Given the description of an element on the screen output the (x, y) to click on. 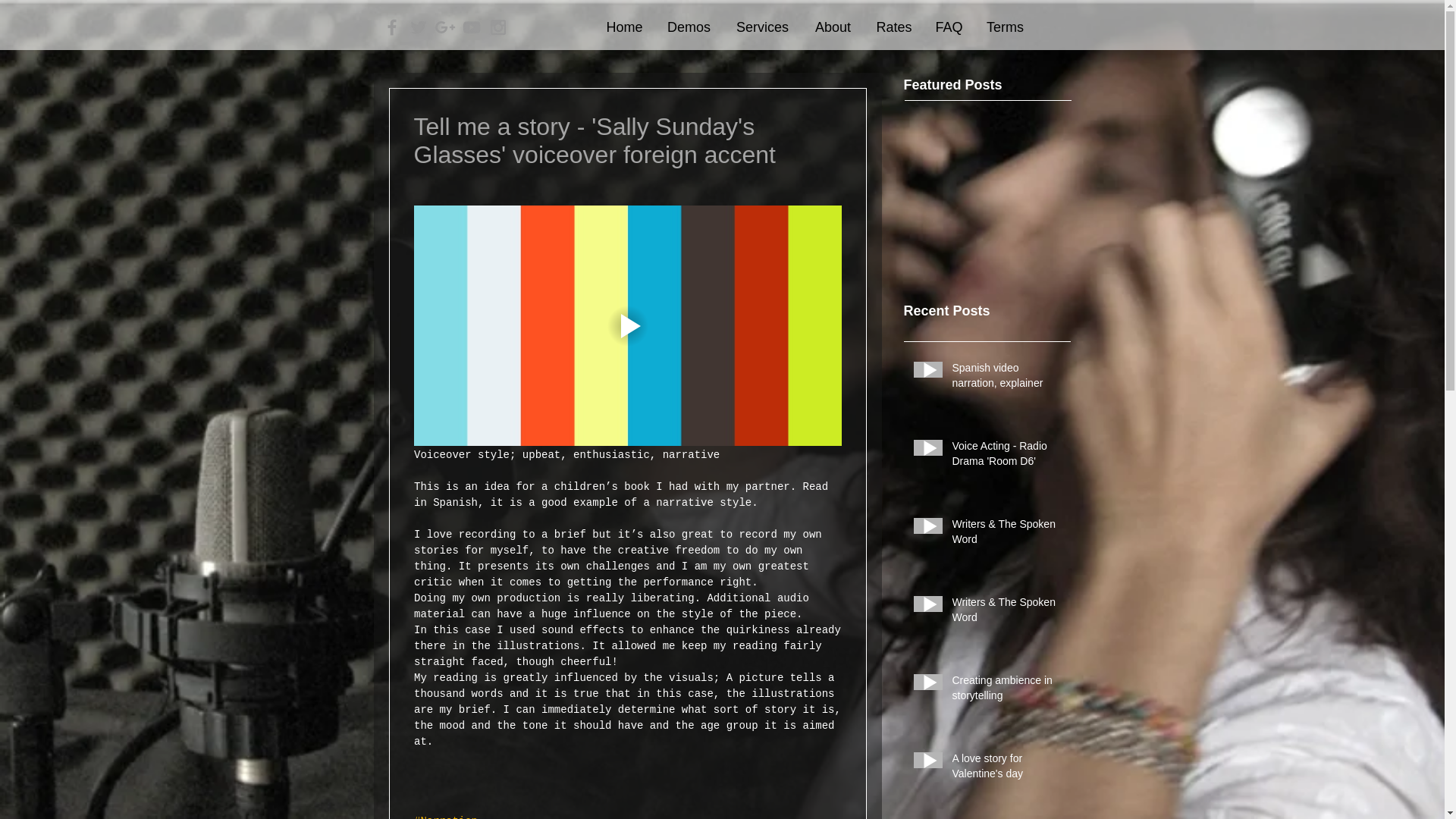
Rates (894, 26)
Voice Acting - Radio Drama 'Room D6' (1006, 456)
Services (762, 26)
Demos (689, 26)
FAQ (948, 26)
A love story for Valentine's day (1006, 769)
Terms (1004, 26)
Home (624, 26)
Spanish video narration, explainer (1006, 378)
About (833, 26)
Creating ambience in storytelling (1006, 691)
